Given the description of an element on the screen output the (x, y) to click on. 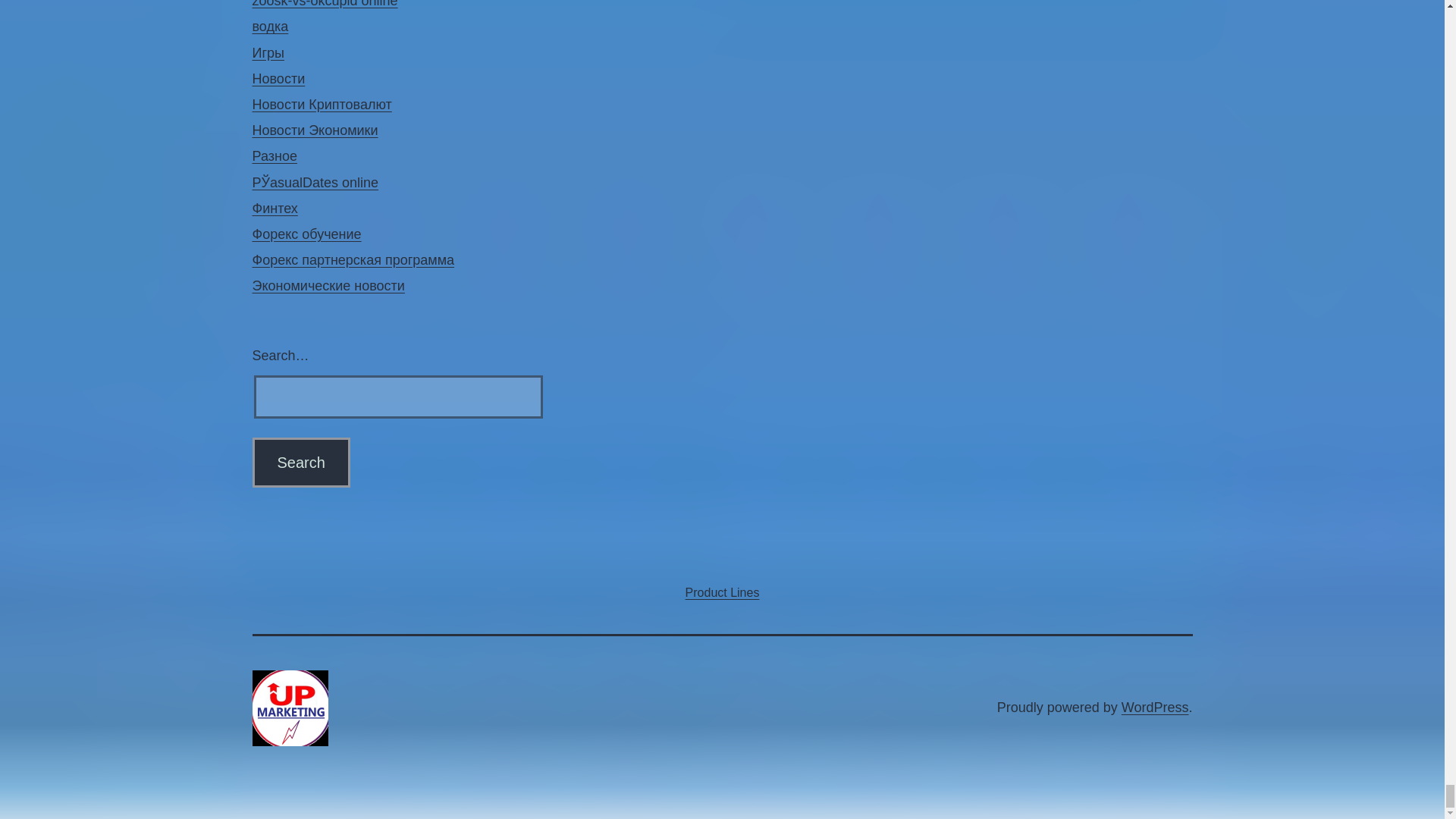
Search (300, 462)
Search (300, 462)
